Given the description of an element on the screen output the (x, y) to click on. 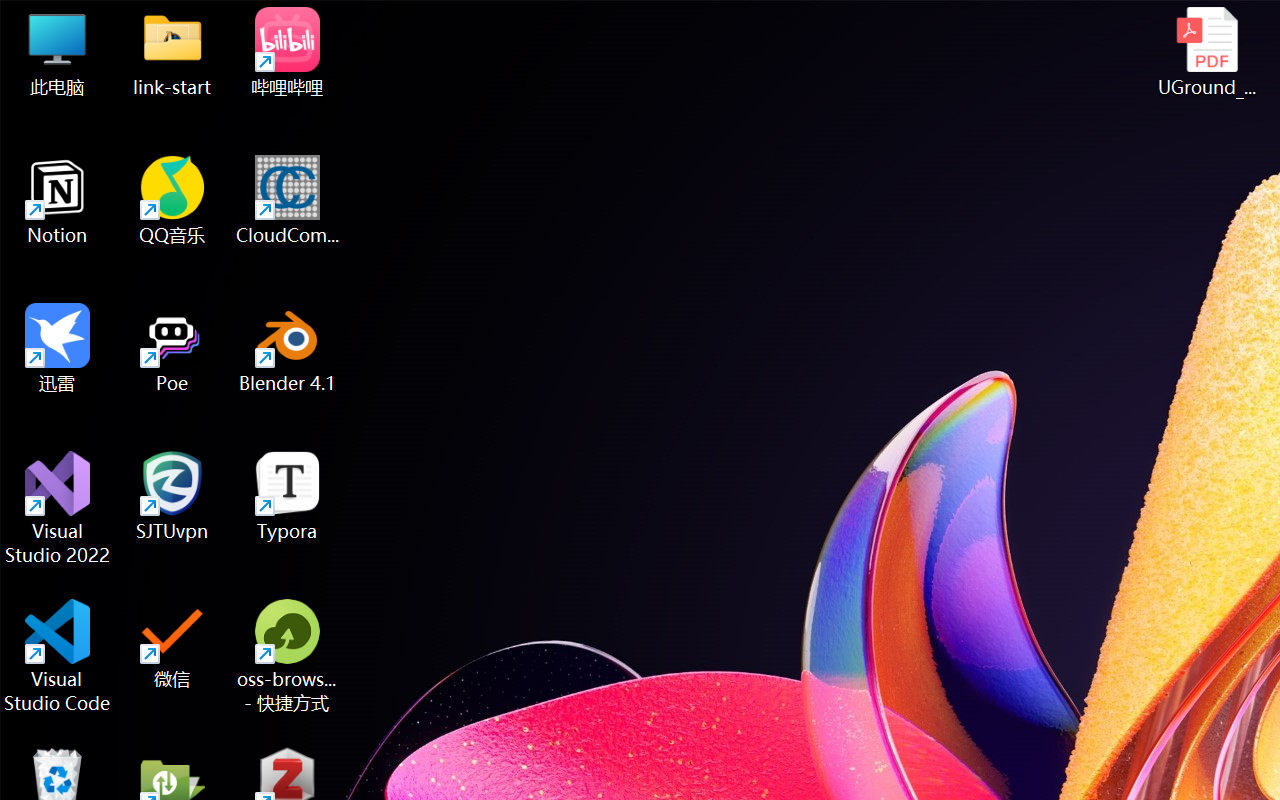
Visual Studio 2022 (57, 508)
CloudCompare (287, 200)
Typora (287, 496)
Blender 4.1 (287, 348)
Visual Studio Code (57, 656)
UGround_paper.pdf (1206, 52)
